Given the description of an element on the screen output the (x, y) to click on. 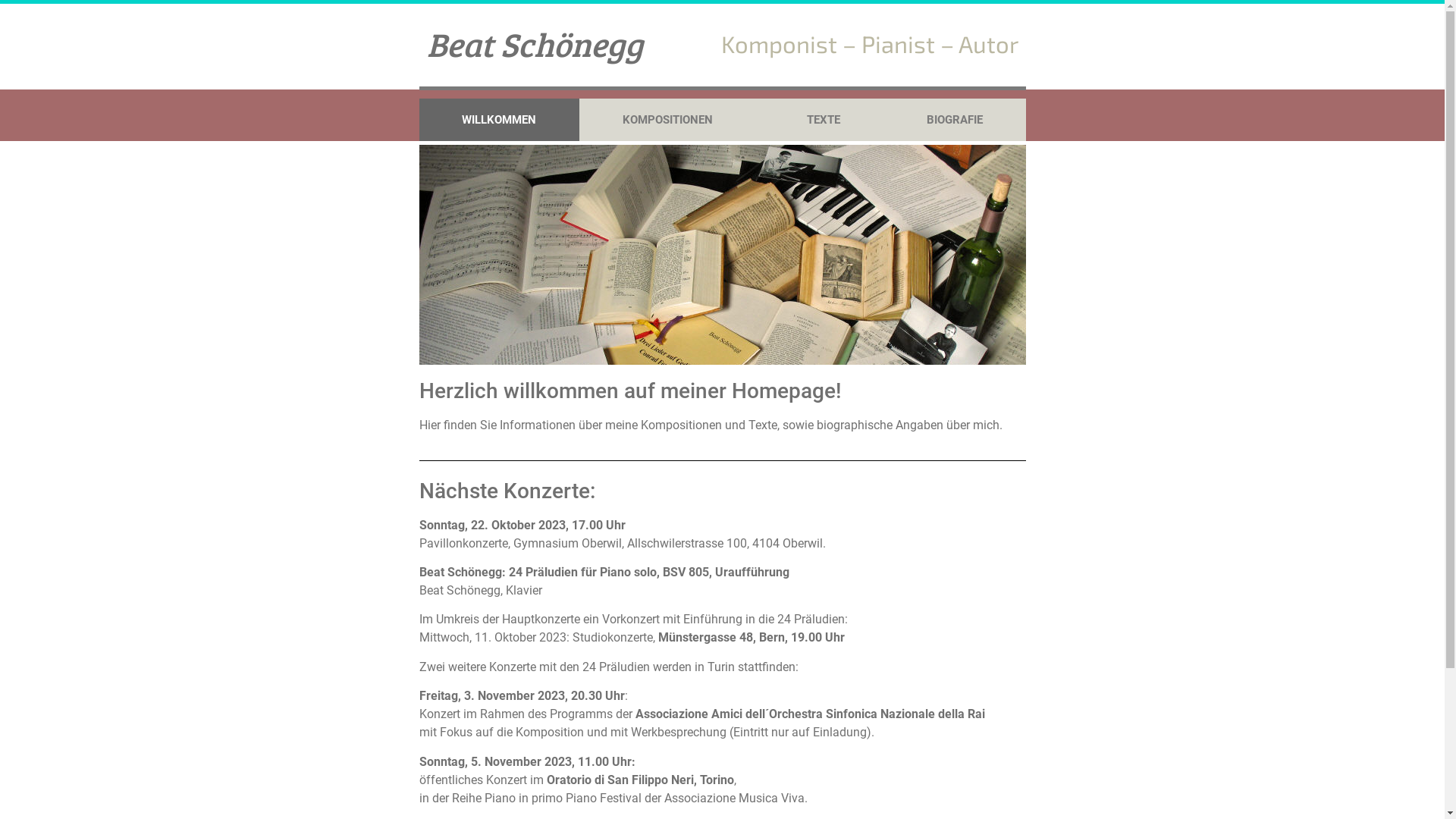
BIOGRAFIE Element type: text (954, 119)
TEXTE Element type: text (823, 119)
WILLKOMMEN Element type: text (498, 119)
KOMPOSITIONEN Element type: text (671, 119)
